Given the description of an element on the screen output the (x, y) to click on. 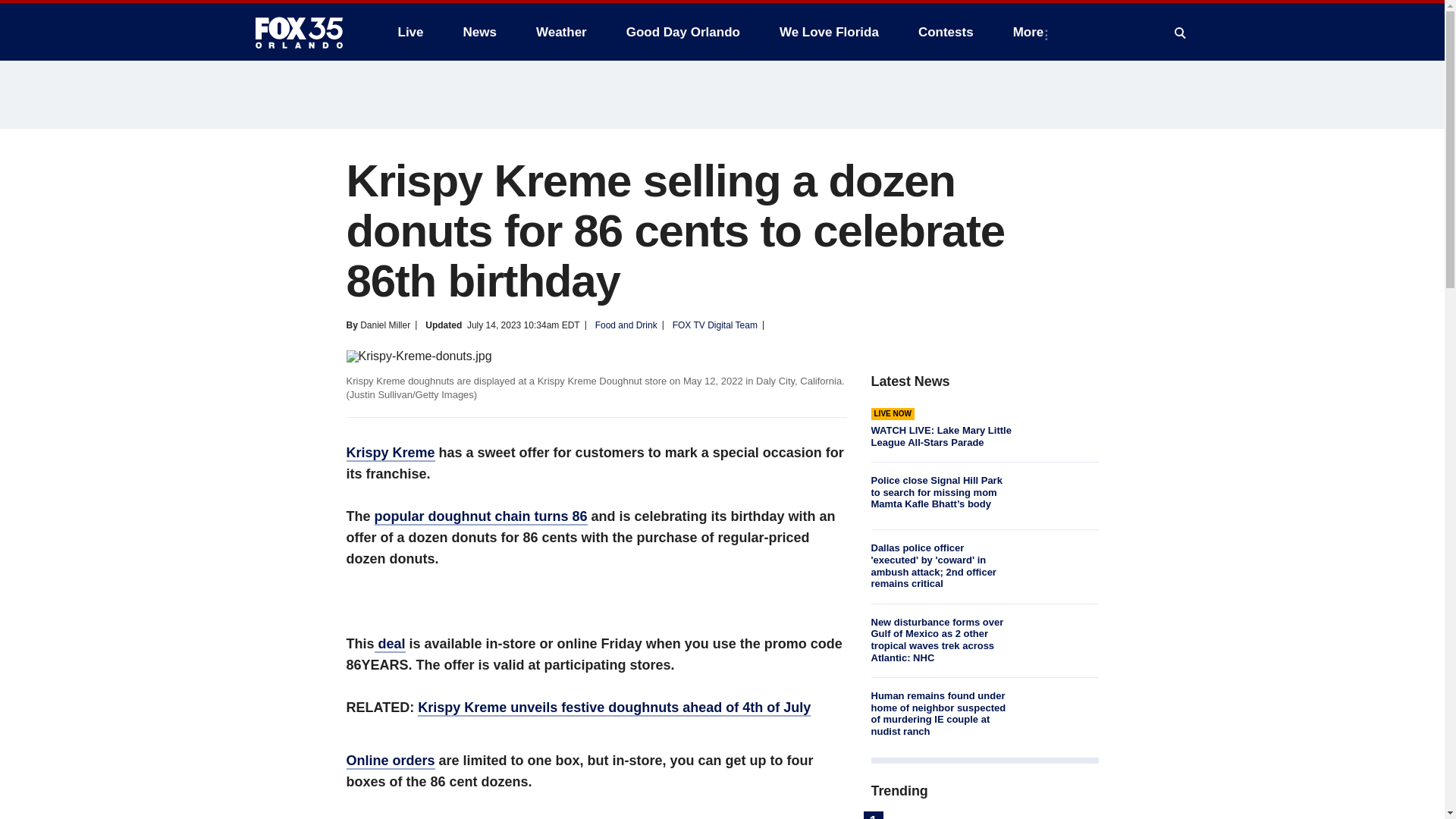
Live (410, 32)
News (479, 32)
We Love Florida (829, 32)
Weather (561, 32)
Good Day Orlando (683, 32)
Contests (945, 32)
More (1031, 32)
